Given the description of an element on the screen output the (x, y) to click on. 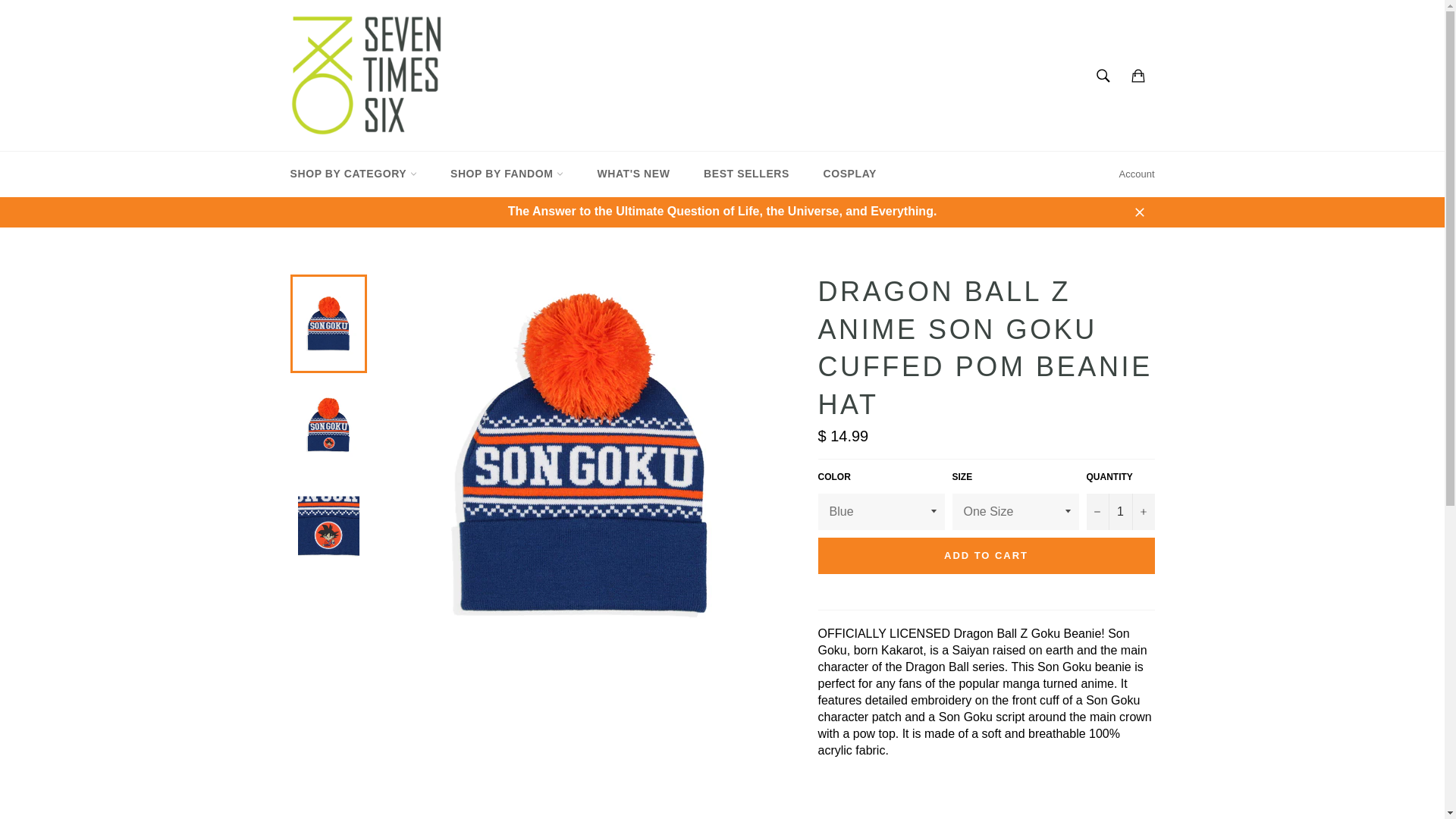
Cart (1138, 75)
SHOP BY CATEGORY (352, 173)
Search (1103, 75)
1 (1120, 511)
